Given the description of an element on the screen output the (x, y) to click on. 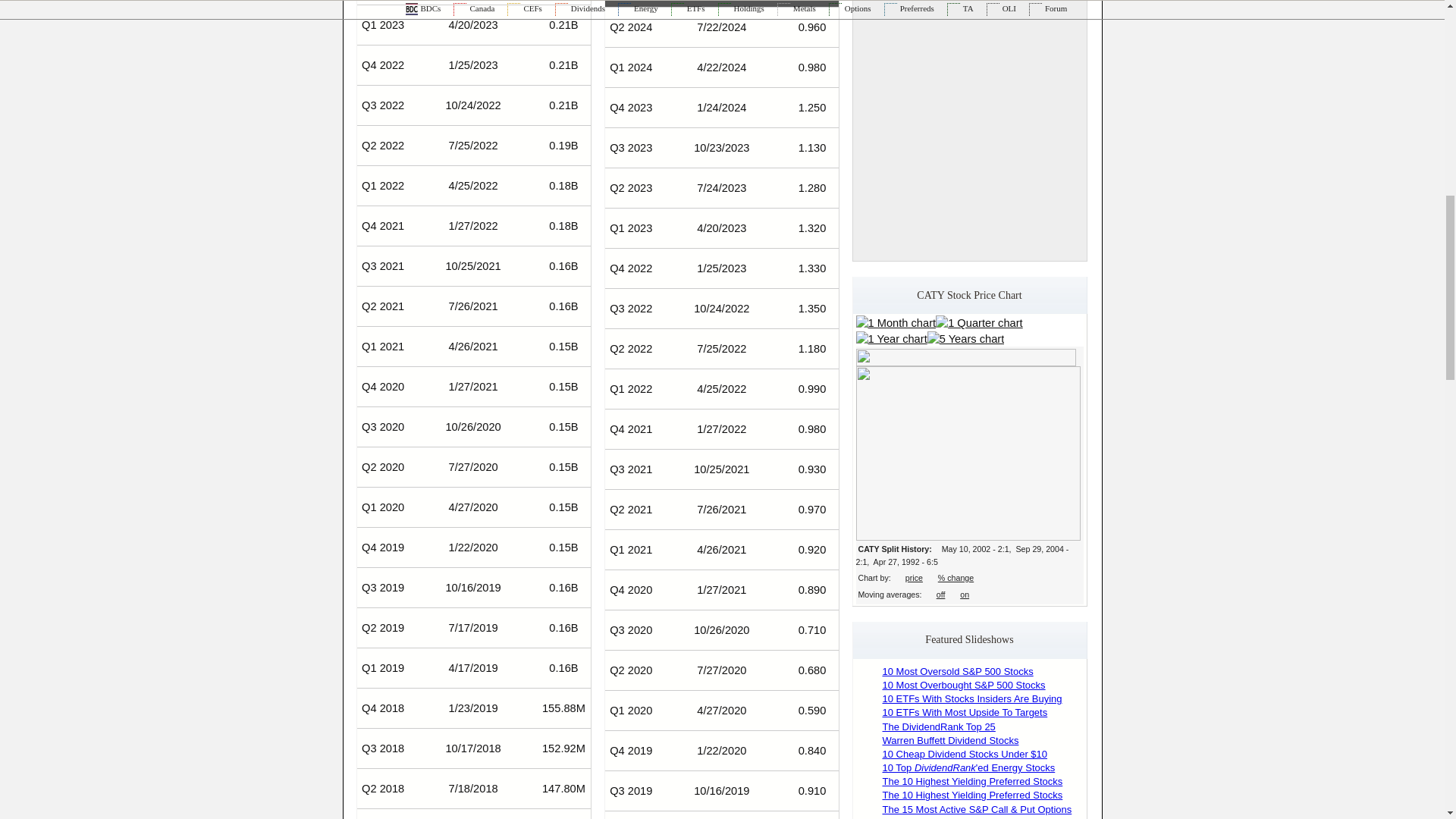
10 ETFs With Stocks Insiders Are Buying (972, 698)
on (964, 593)
price (914, 577)
off (940, 593)
The DividendRank Top 25 (938, 726)
10 ETFs With Most Upside To Targets (965, 712)
